Given the description of an element on the screen output the (x, y) to click on. 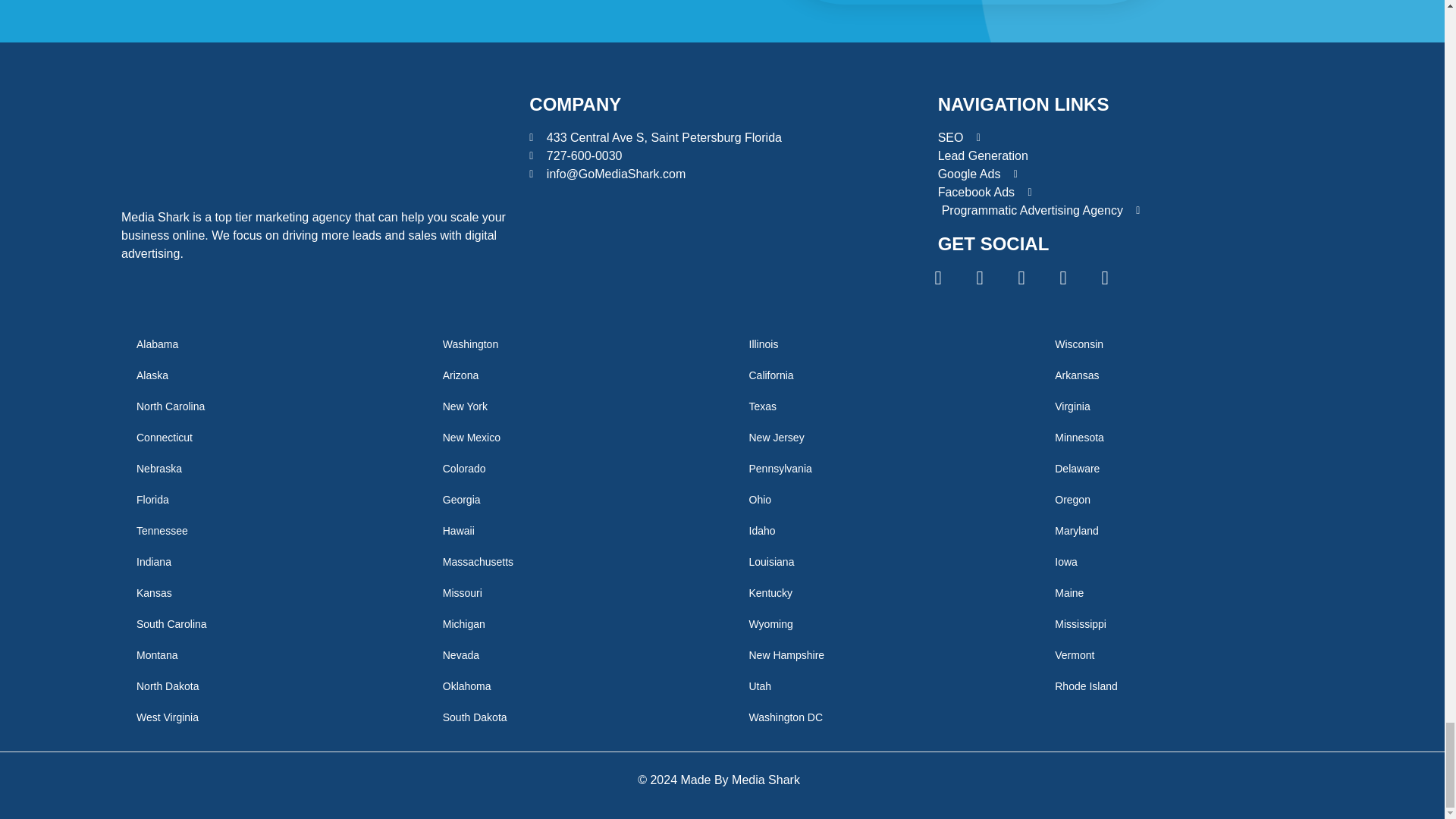
Programmatic Advertising Agency (1130, 209)
Lead Generation (1130, 155)
